Given the description of an element on the screen output the (x, y) to click on. 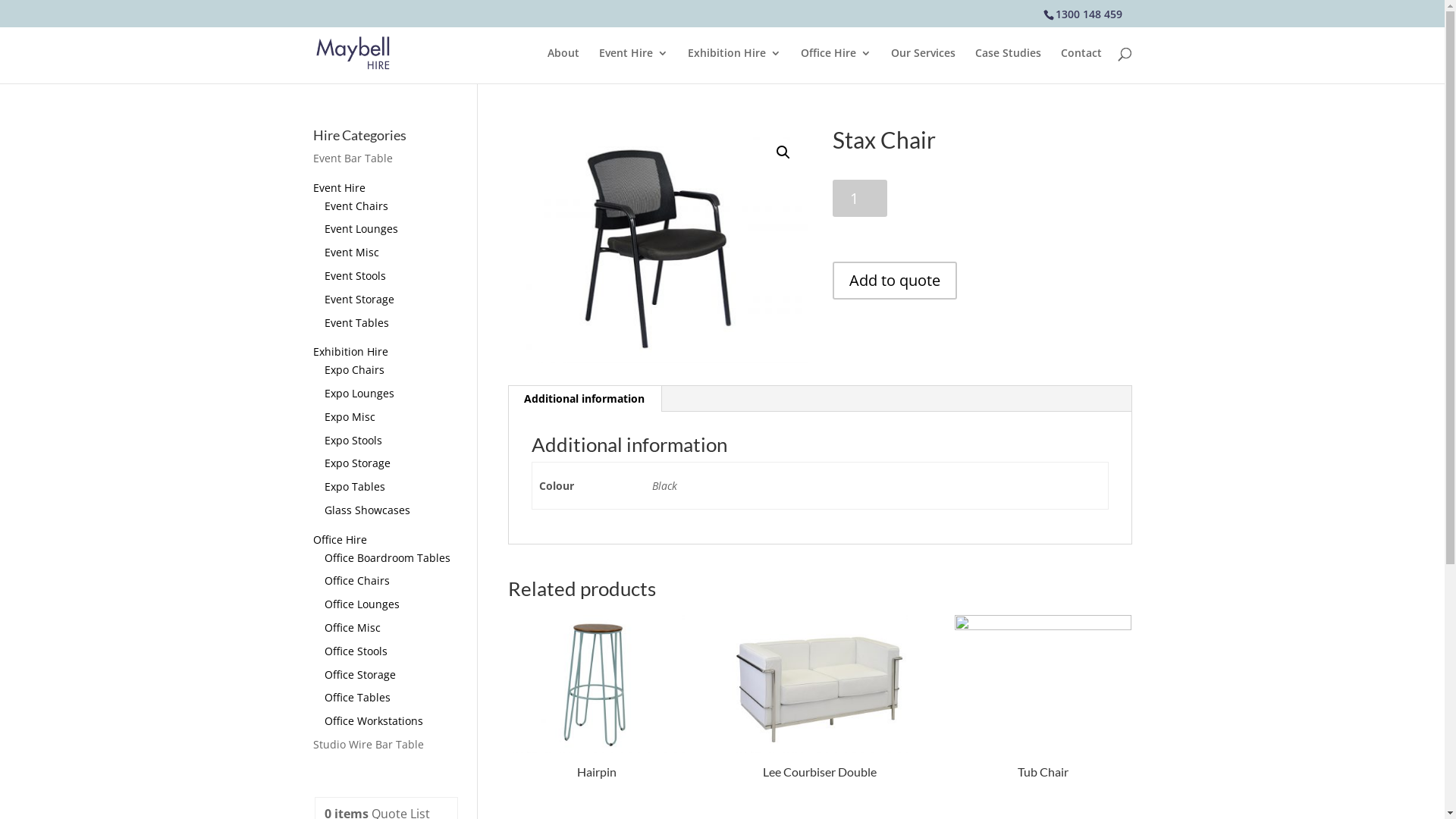
Event Hire Element type: text (633, 65)
Expo Tables Element type: text (354, 486)
Case Studies Element type: text (1008, 65)
Event Misc Element type: text (351, 251)
Office Lounges Element type: text (361, 603)
Exhibition Hire Element type: text (349, 351)
Event Chairs Element type: text (356, 205)
Event Bar Table Element type: text (352, 157)
About Element type: text (563, 65)
Expo Chairs Element type: text (354, 369)
Glass Showcases Element type: text (367, 509)
trane-chair-01 Element type: hover (657, 245)
Office Chairs Element type: text (356, 580)
Office Tables Element type: text (357, 697)
Qty Element type: hover (860, 197)
Hairpin Element type: text (596, 704)
Event Tables Element type: text (356, 322)
Office Workstations Element type: text (373, 720)
Add to quote Element type: text (894, 280)
Event Storage Element type: text (359, 298)
Office Storage Element type: text (359, 674)
Office Stools Element type: text (355, 650)
Office Hire Element type: text (339, 539)
Lee Courbiser Double Element type: text (819, 704)
Office Boardroom Tables Element type: text (387, 557)
Office Hire Element type: text (835, 65)
Expo Lounges Element type: text (359, 392)
Office Misc Element type: text (352, 627)
Event Hire Element type: text (338, 187)
Expo Storage Element type: text (357, 462)
Event Lounges Element type: text (361, 228)
Expo Stools Element type: text (353, 440)
Studio Wire Bar Table Element type: text (367, 744)
Additional information Element type: text (584, 398)
Expo Misc Element type: text (349, 416)
Contact Element type: text (1080, 65)
Tub Chair Element type: text (1042, 704)
Our Services Element type: text (922, 65)
Exhibition Hire Element type: text (733, 65)
Event Stools Element type: text (354, 275)
